Given the description of an element on the screen output the (x, y) to click on. 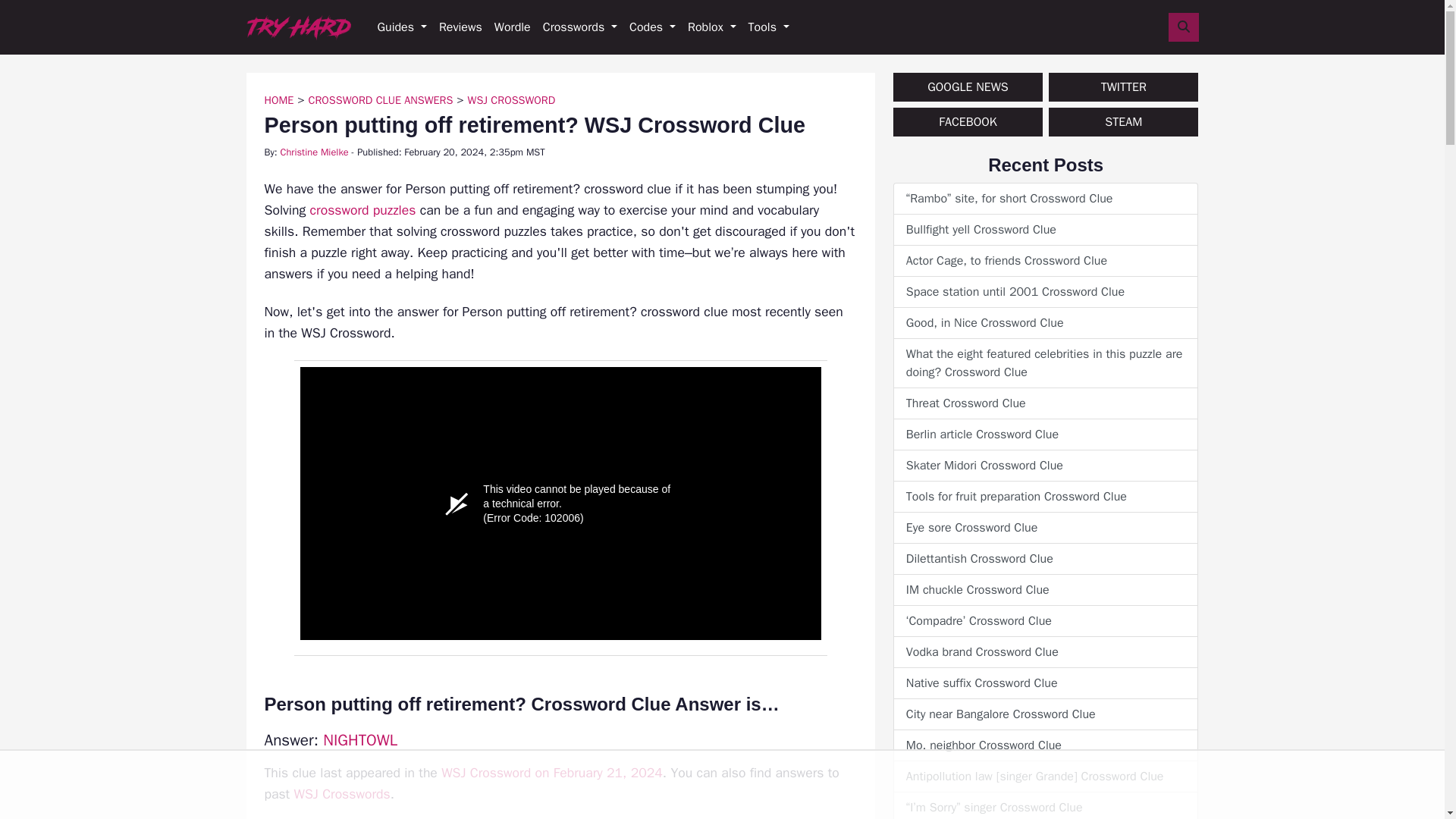
Roblox (711, 27)
Guides (401, 27)
Try Hard Guides (298, 27)
Wordle (512, 27)
Reviews (459, 27)
Codes (652, 27)
Crosswords (580, 27)
